Given the description of an element on the screen output the (x, y) to click on. 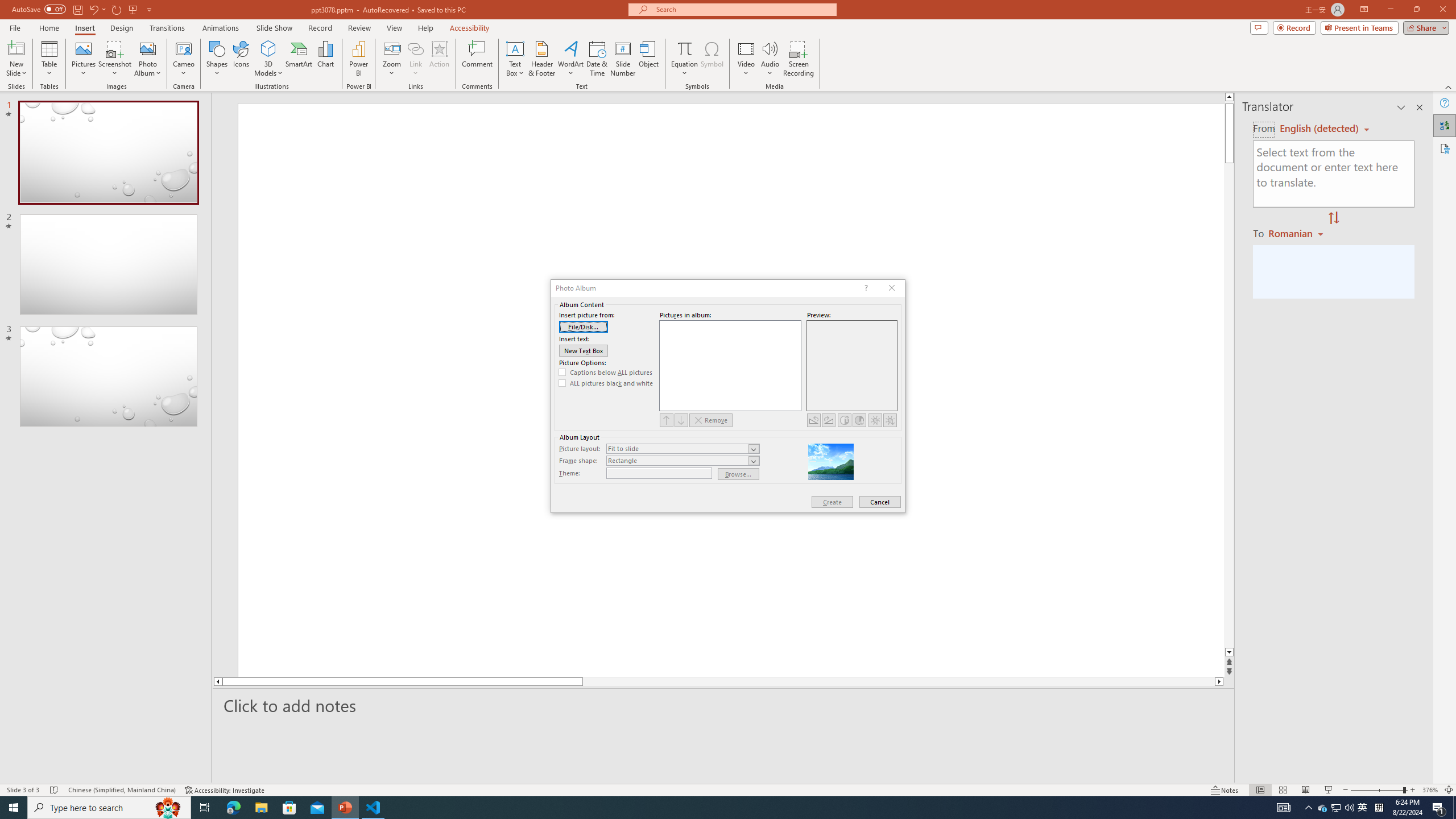
New Photo Album... (147, 48)
SmartArt... (298, 58)
Zoom 376% (1430, 790)
More Contrast (844, 419)
Less Contrast (858, 419)
Chart... (325, 58)
Frame shape (682, 460)
